Given the description of an element on the screen output the (x, y) to click on. 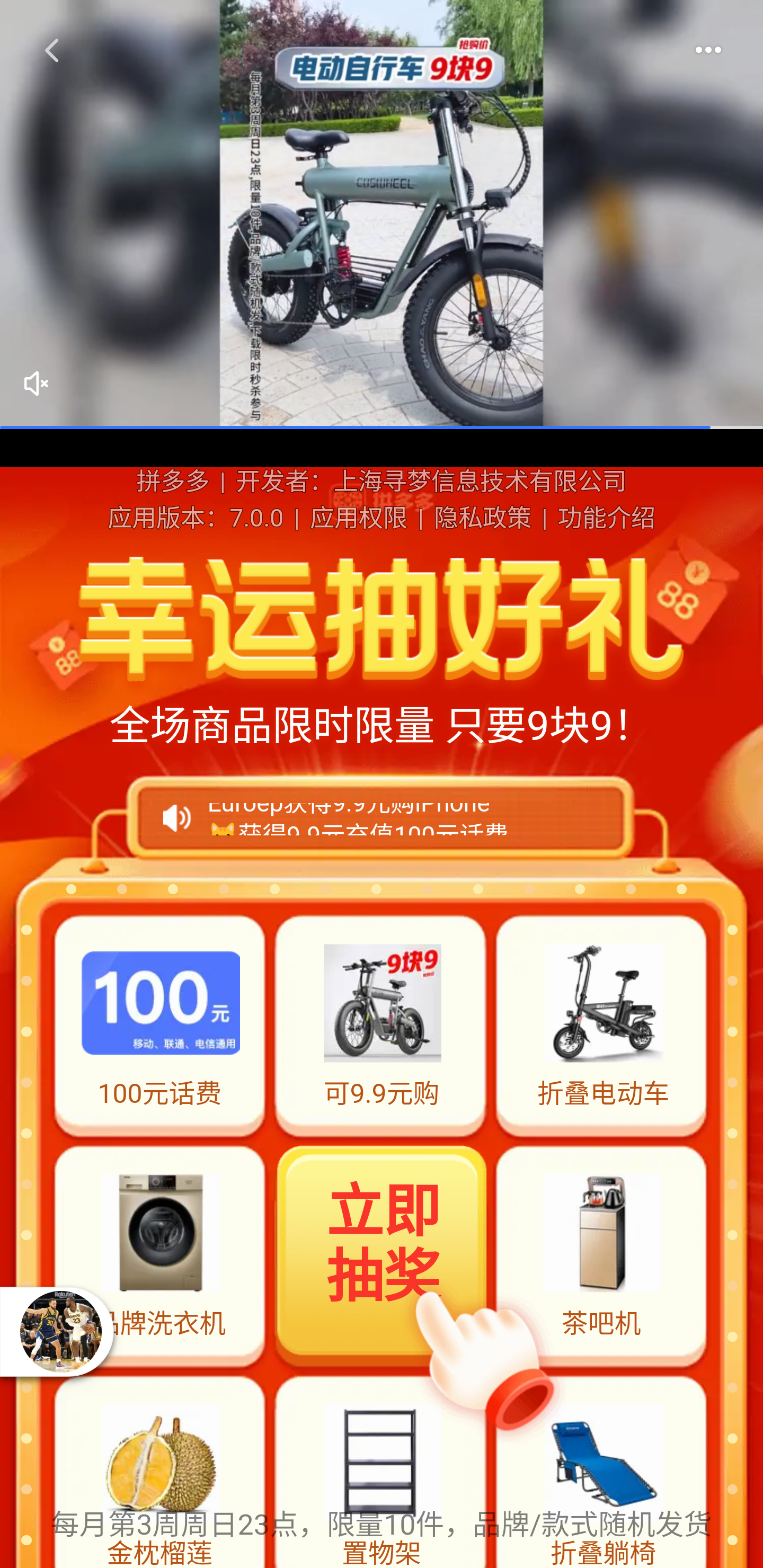
广告 43882.0 (381, 214)
更多 (708, 49)
立即抽奖 (382, 1254)
播放器 (60, 1331)
